Given the description of an element on the screen output the (x, y) to click on. 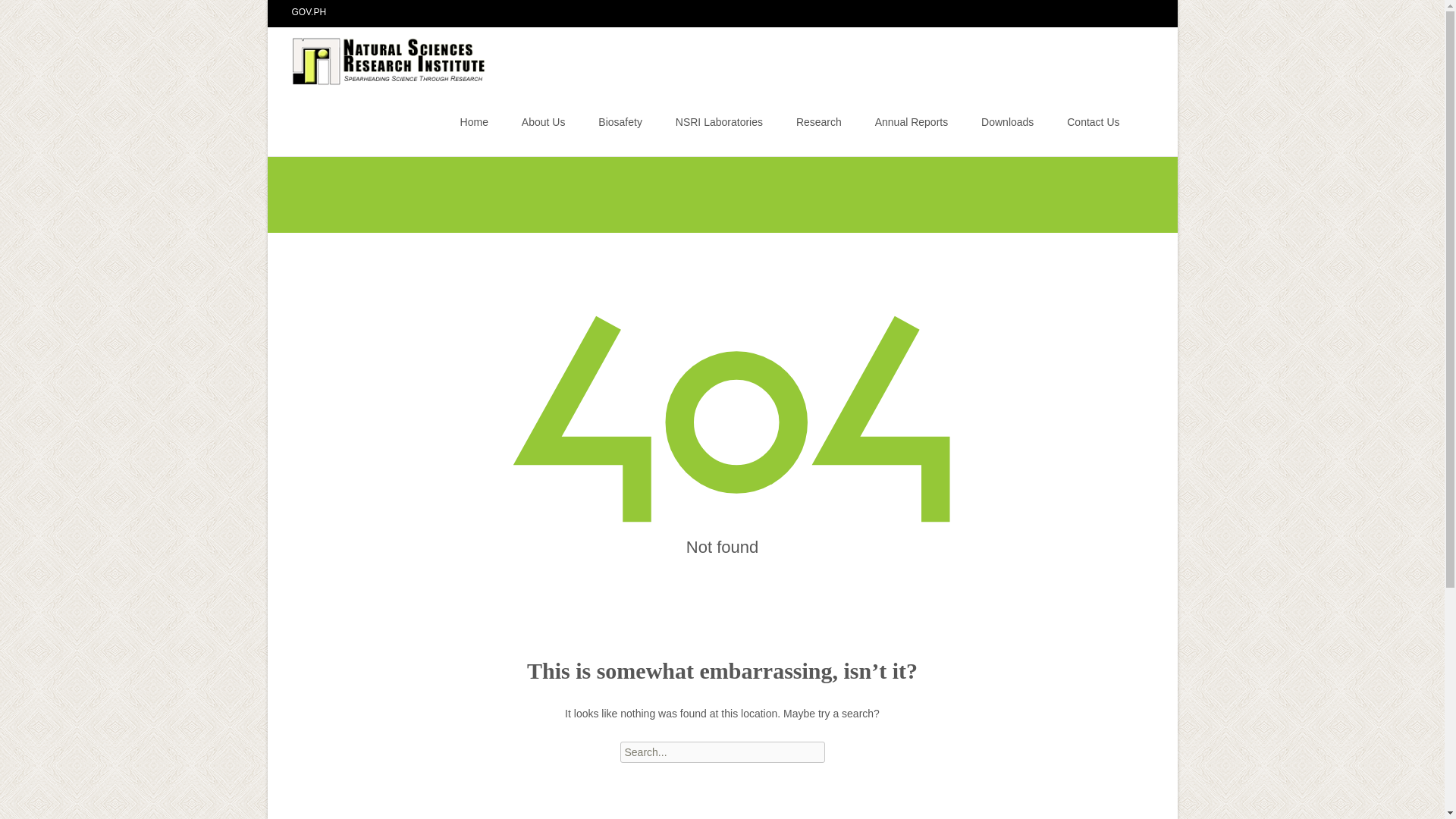
NSRI Laboratories (718, 121)
GOV.PH (308, 11)
Search (18, 14)
Search for: (722, 752)
Natural Sciences Research Institute (378, 57)
Contact Us (1093, 121)
Biosafety (620, 121)
Research (818, 121)
Annual Reports (912, 121)
Search for: (1139, 123)
About Us (543, 121)
Search (34, 14)
Downloads (1007, 121)
Home (473, 121)
